Given the description of an element on the screen output the (x, y) to click on. 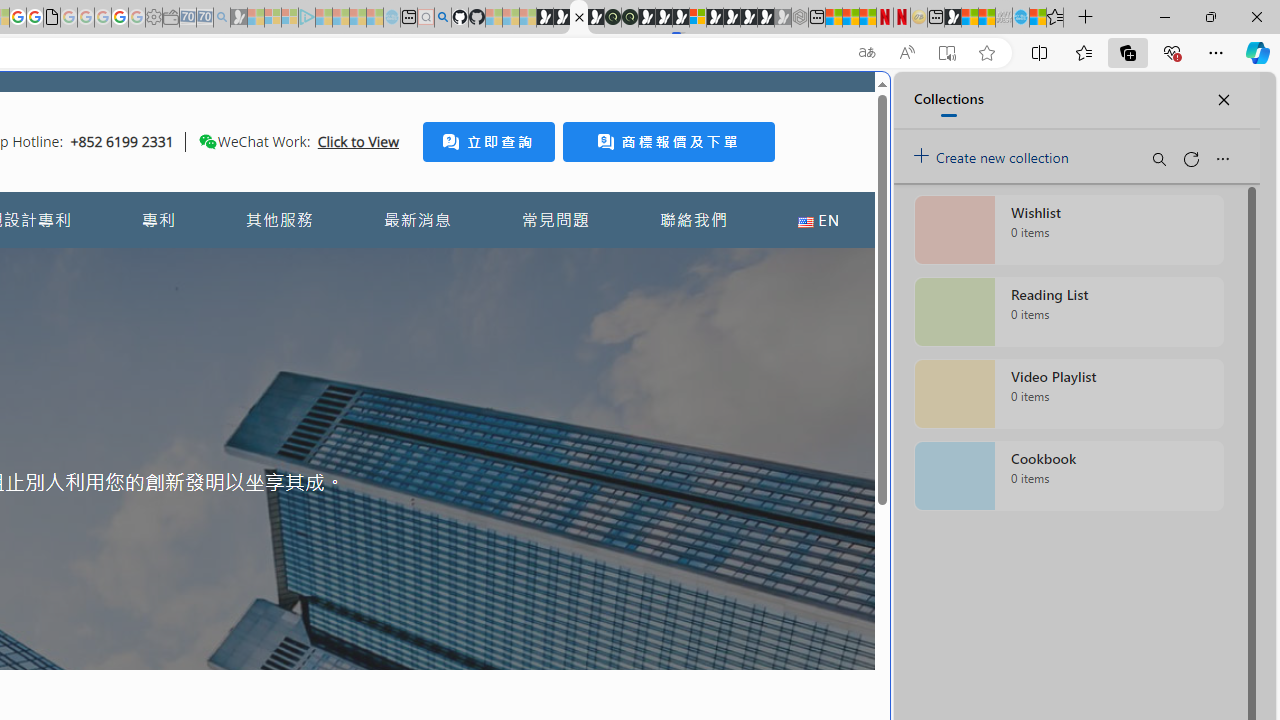
EN (818, 220)
Show translate options (867, 53)
